Given the description of an element on the screen output the (x, y) to click on. 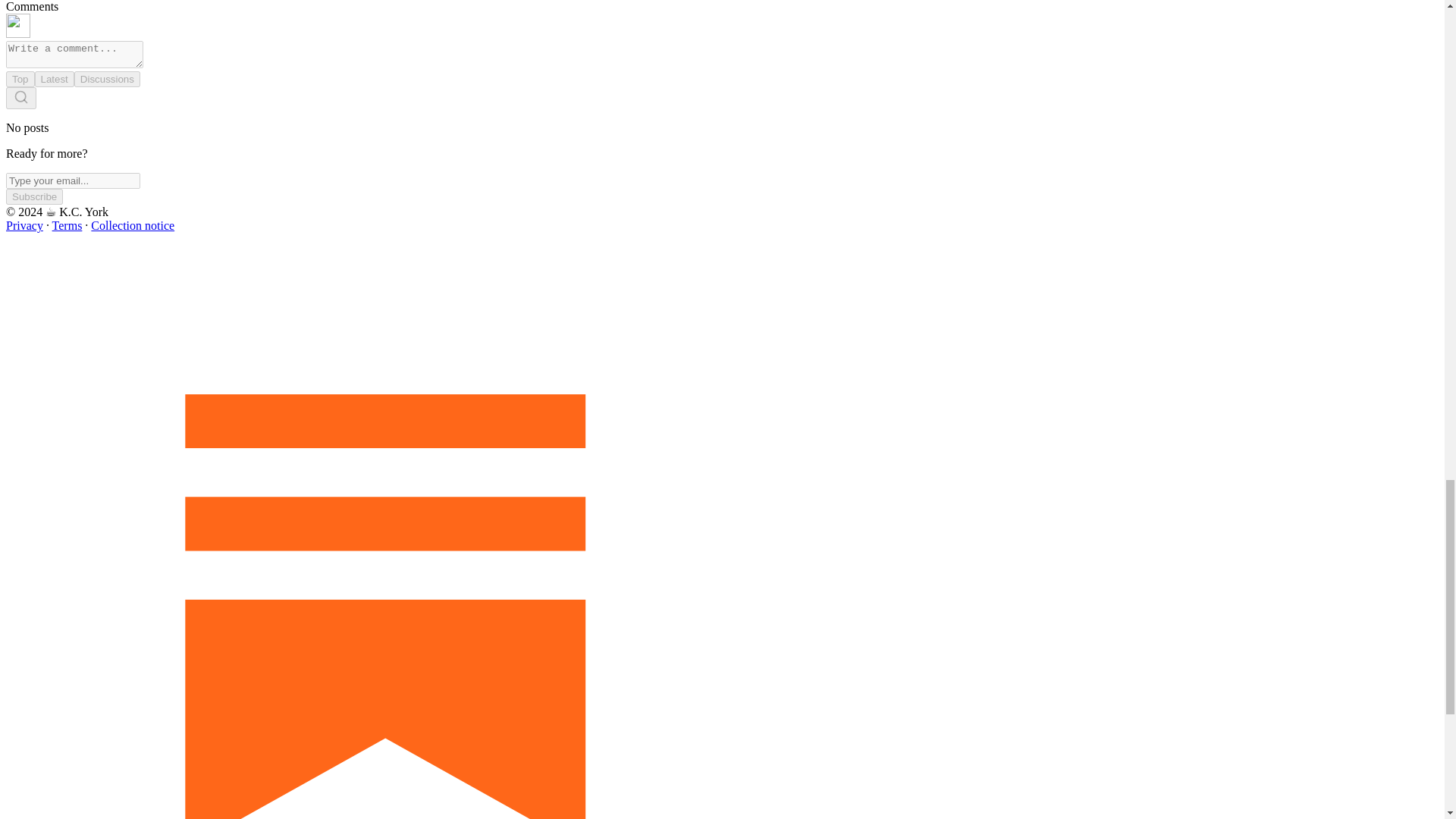
Top (19, 78)
Latest (54, 78)
